Given the description of an element on the screen output the (x, y) to click on. 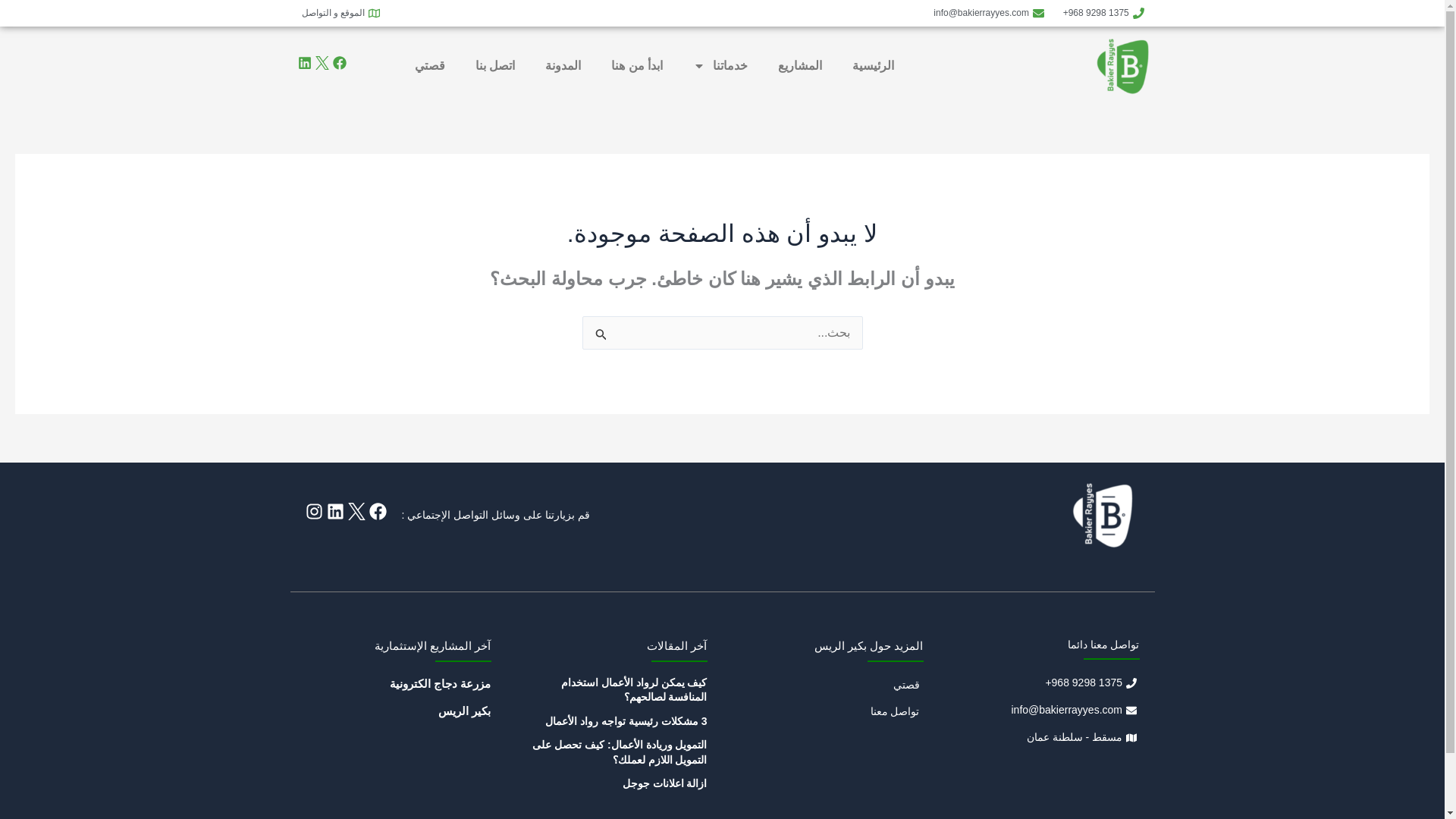
Facebook (376, 511)
Linkedin (304, 62)
Facebook (338, 62)
Linkedin (334, 511)
Instagram (312, 511)
